Given the description of an element on the screen output the (x, y) to click on. 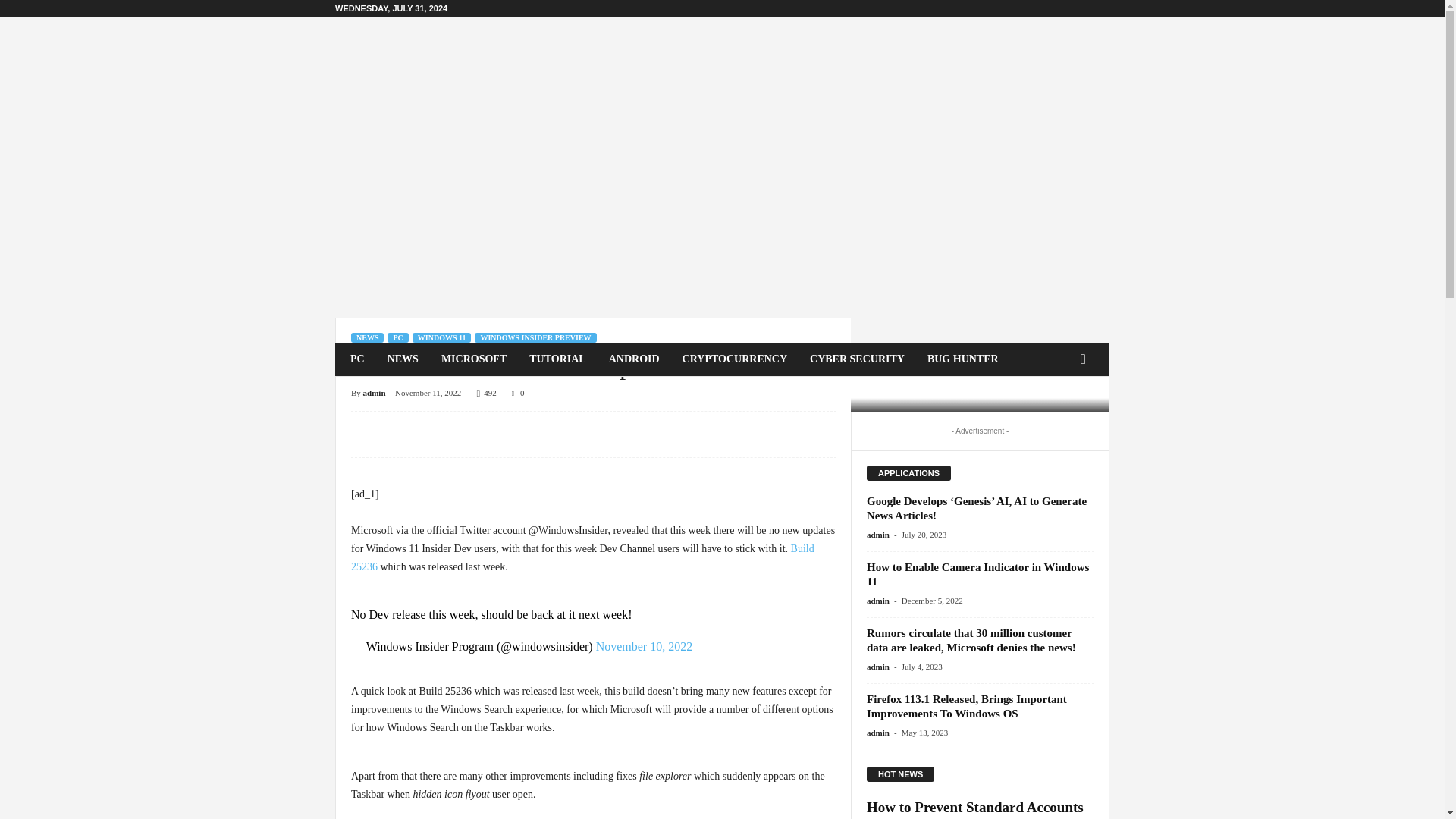
November 10, 2022 (644, 645)
ANDROID (633, 359)
PC (397, 337)
CYBER SECURITY (856, 359)
TUTORIAL (557, 359)
Mozbue Tech Info And News (437, 65)
NEWS (402, 359)
WINDOWS 11 (441, 337)
MICROSOFT (473, 359)
PC (357, 359)
NEWS (367, 337)
Home (359, 393)
admin (373, 392)
Build 25236 (581, 557)
News (391, 393)
